Given the description of an element on the screen output the (x, y) to click on. 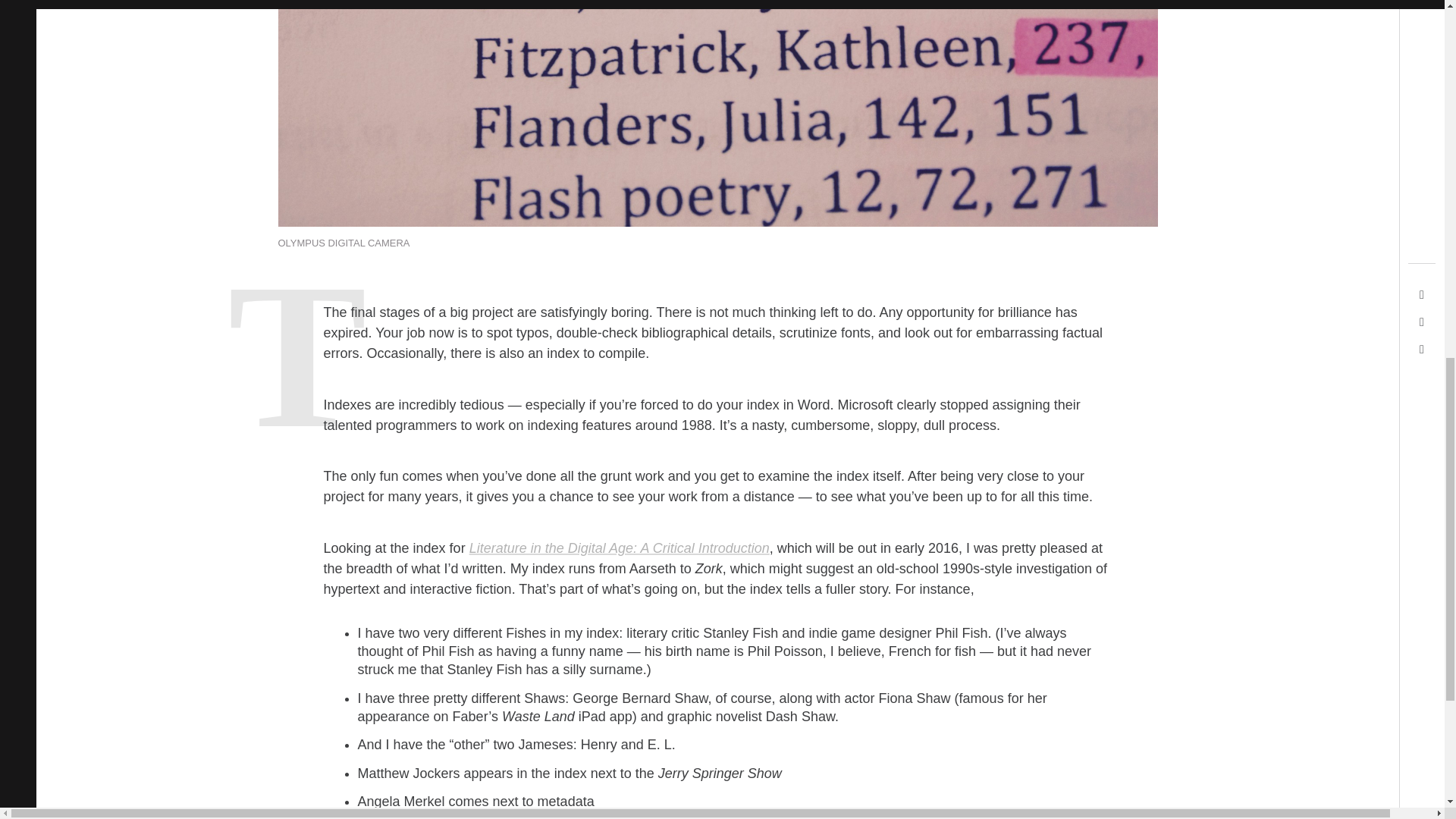
Literature in the Digital Age: A Critical Introduction (619, 548)
